Given the description of an element on the screen output the (x, y) to click on. 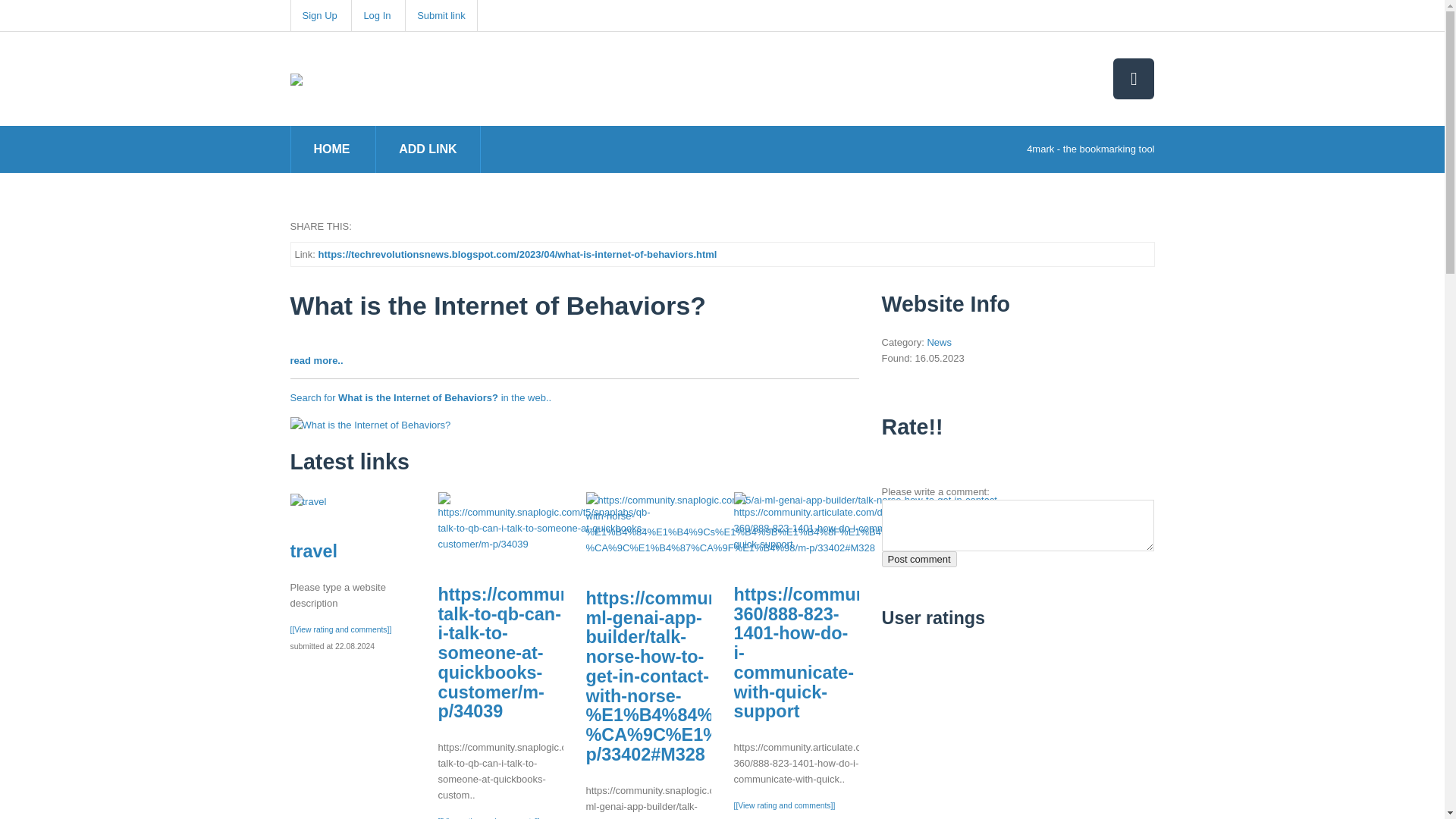
travel (307, 500)
ADD LINK (427, 148)
Log In (375, 15)
Post comment (918, 559)
Submit link (440, 15)
Click to view! (369, 423)
read more.. (315, 360)
HOME (332, 148)
travel (312, 551)
Sign Up (318, 15)
